Given the description of an element on the screen output the (x, y) to click on. 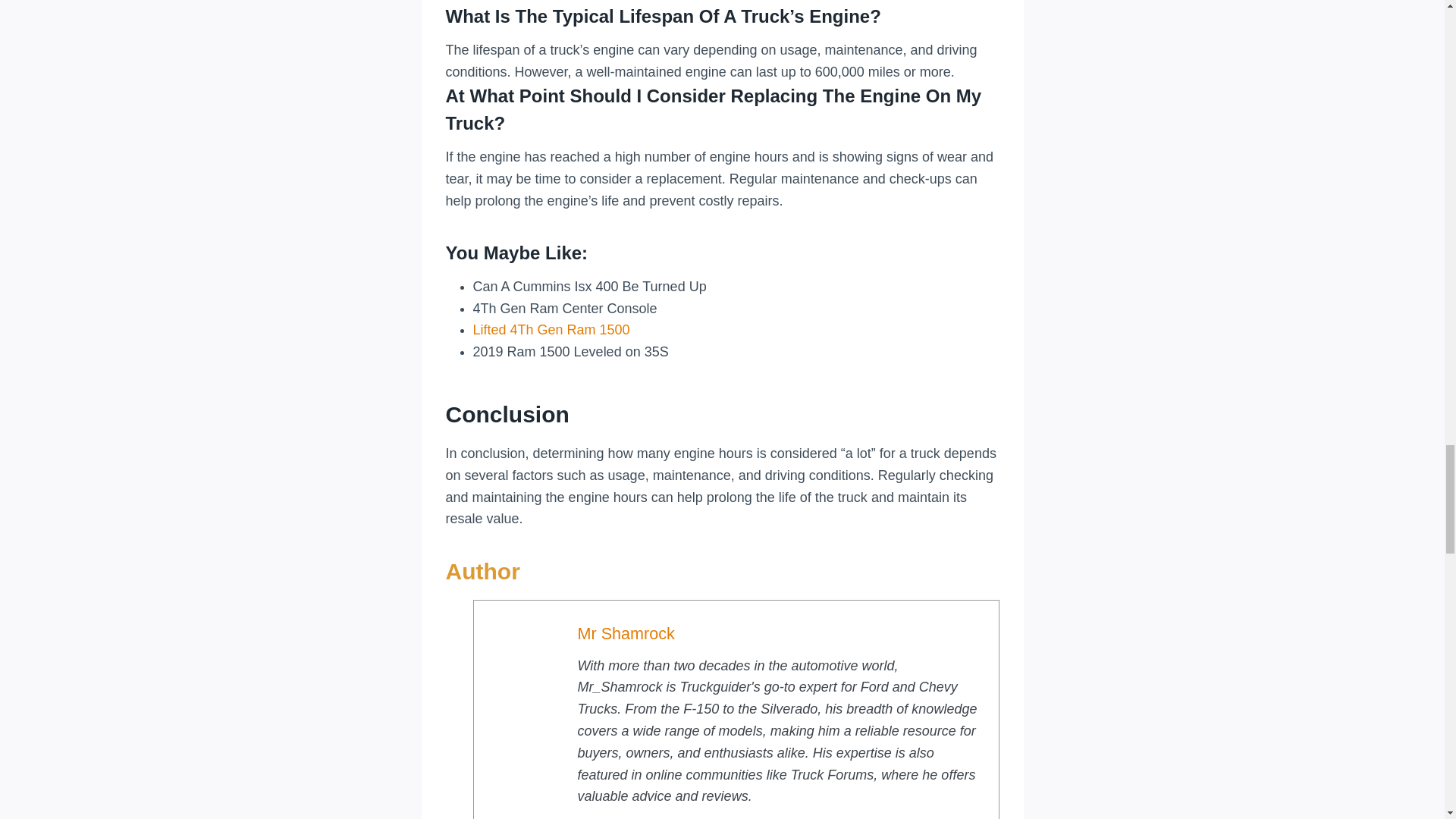
Mr Shamrock (626, 633)
Lifted 4Th Gen Ram 1500 (551, 329)
Mr Shamrock (626, 633)
